Given the description of an element on the screen output the (x, y) to click on. 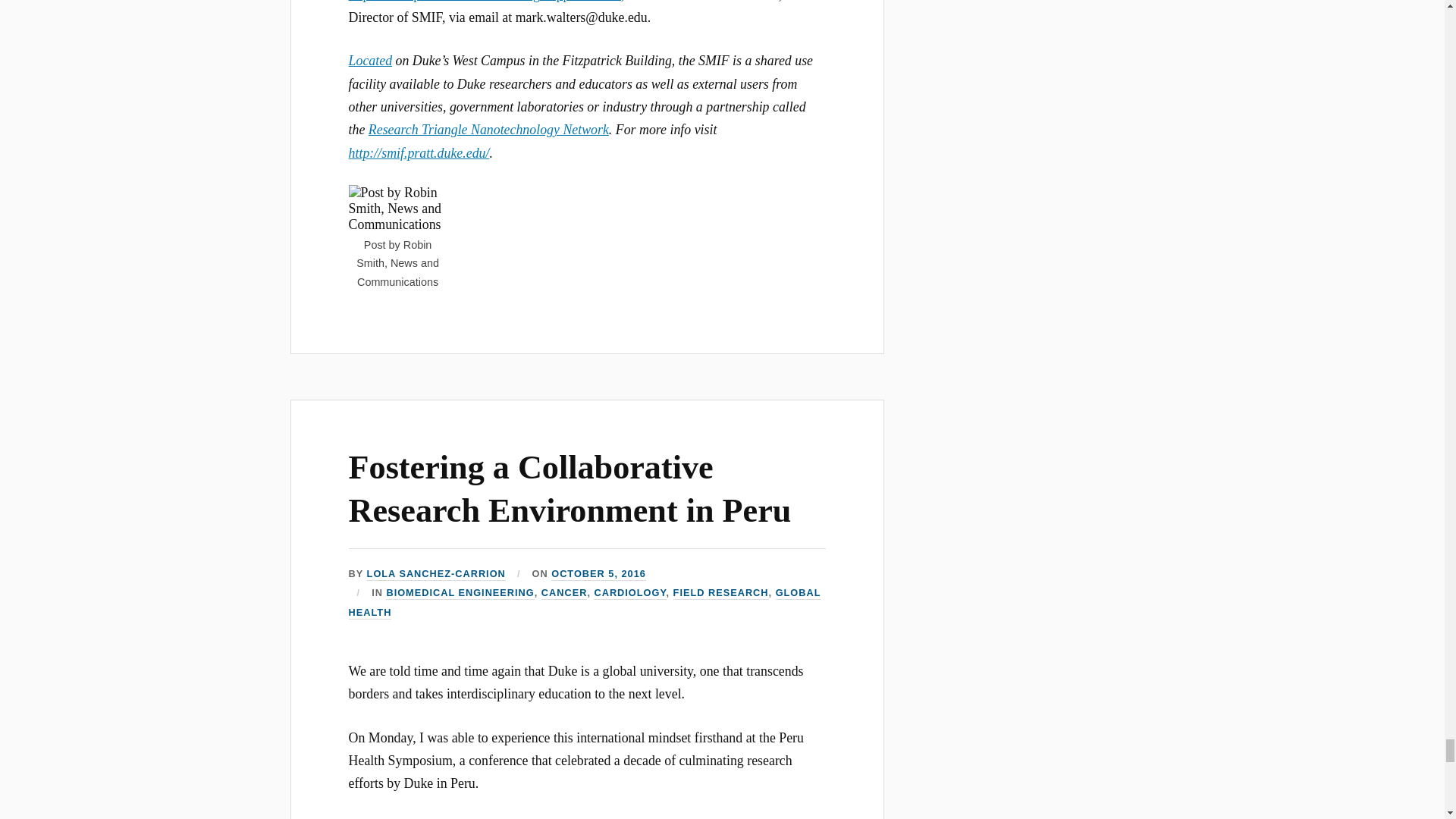
Posts by Lola Sanchez-Carrion (435, 574)
